Given the description of an element on the screen output the (x, y) to click on. 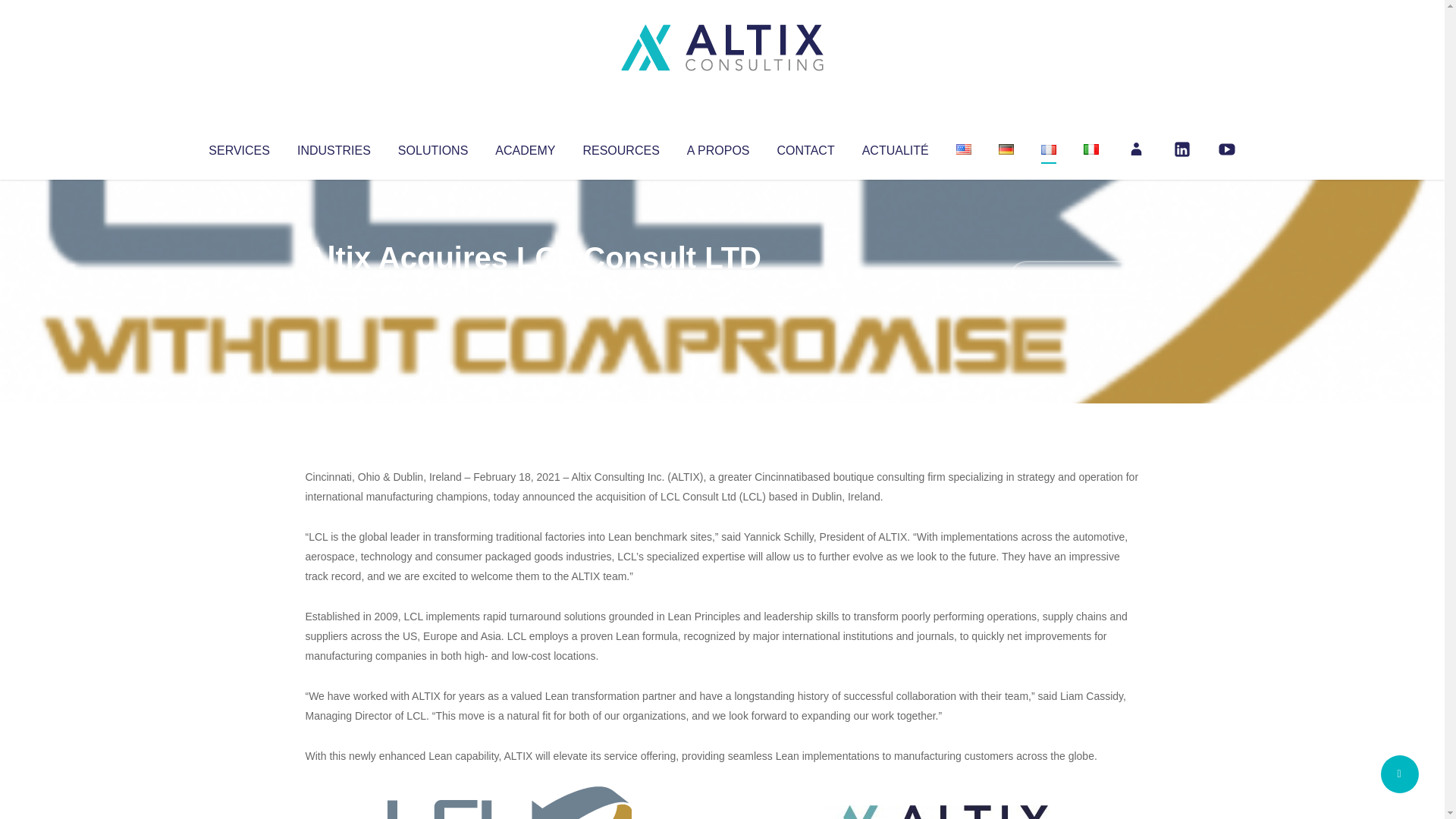
A PROPOS (718, 146)
Uncategorized (530, 287)
SERVICES (238, 146)
Altix (333, 287)
RESOURCES (620, 146)
No Comments (1073, 278)
SOLUTIONS (432, 146)
ACADEMY (524, 146)
Articles par Altix (333, 287)
INDUSTRIES (334, 146)
